Given the description of an element on the screen output the (x, y) to click on. 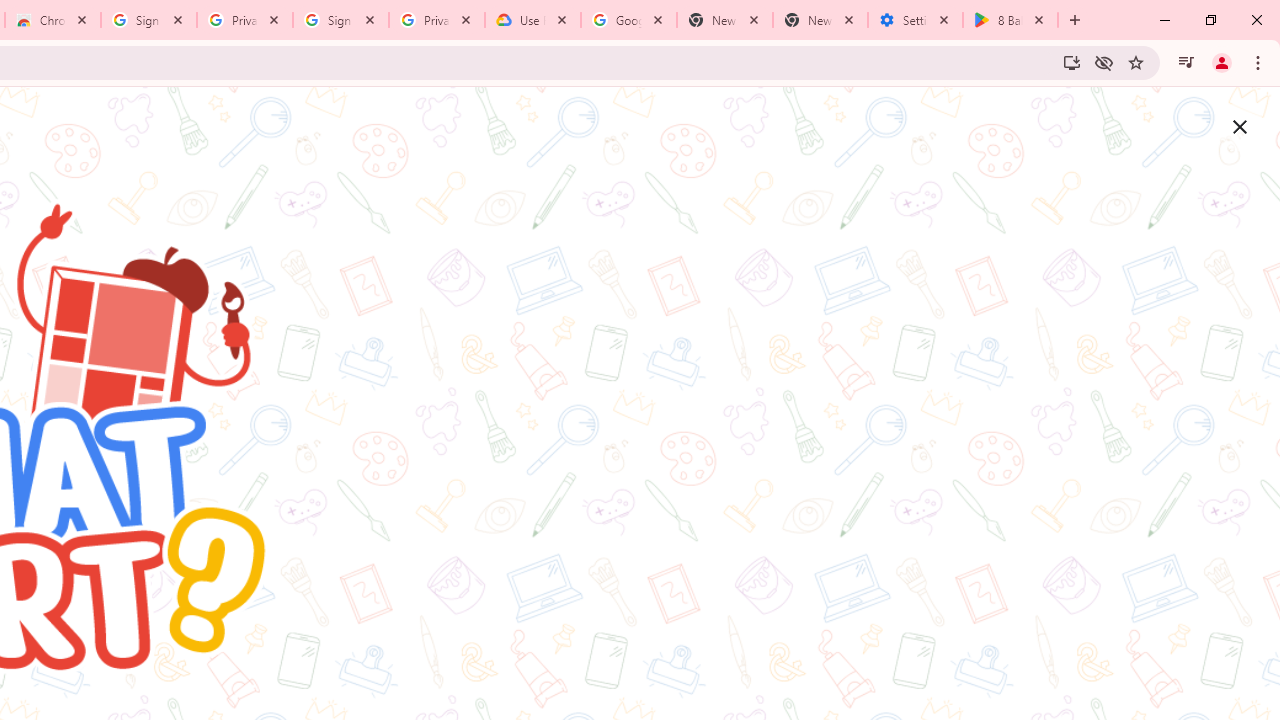
Install Google Arts & Culture (1071, 62)
Sign in - Google Accounts (149, 20)
